Given the description of an element on the screen output the (x, y) to click on. 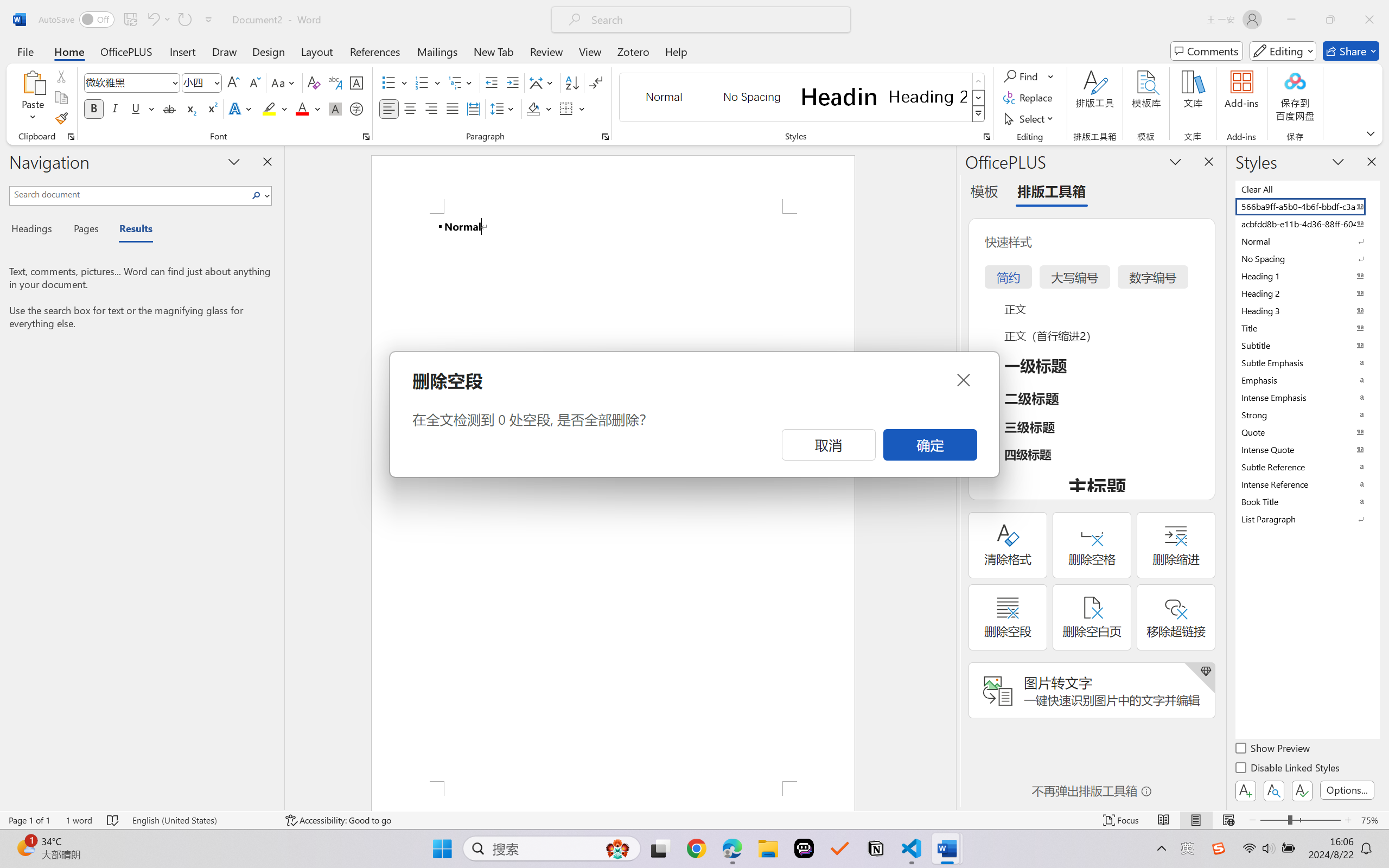
Review (546, 51)
Help (675, 51)
Numbering (428, 82)
Numbering (421, 82)
Heading 2 (927, 96)
Word Count 1 word (78, 819)
566ba9ff-a5b0-4b6f-bbdf-c3ab41993fc2 (1306, 206)
AutomationID: QuickStylesGallery (802, 97)
Notion (875, 848)
Shading (539, 108)
Shrink Font (253, 82)
Shading RGB(0, 0, 0) (533, 108)
Cut (60, 75)
Headings (35, 229)
